Given the description of an element on the screen output the (x, y) to click on. 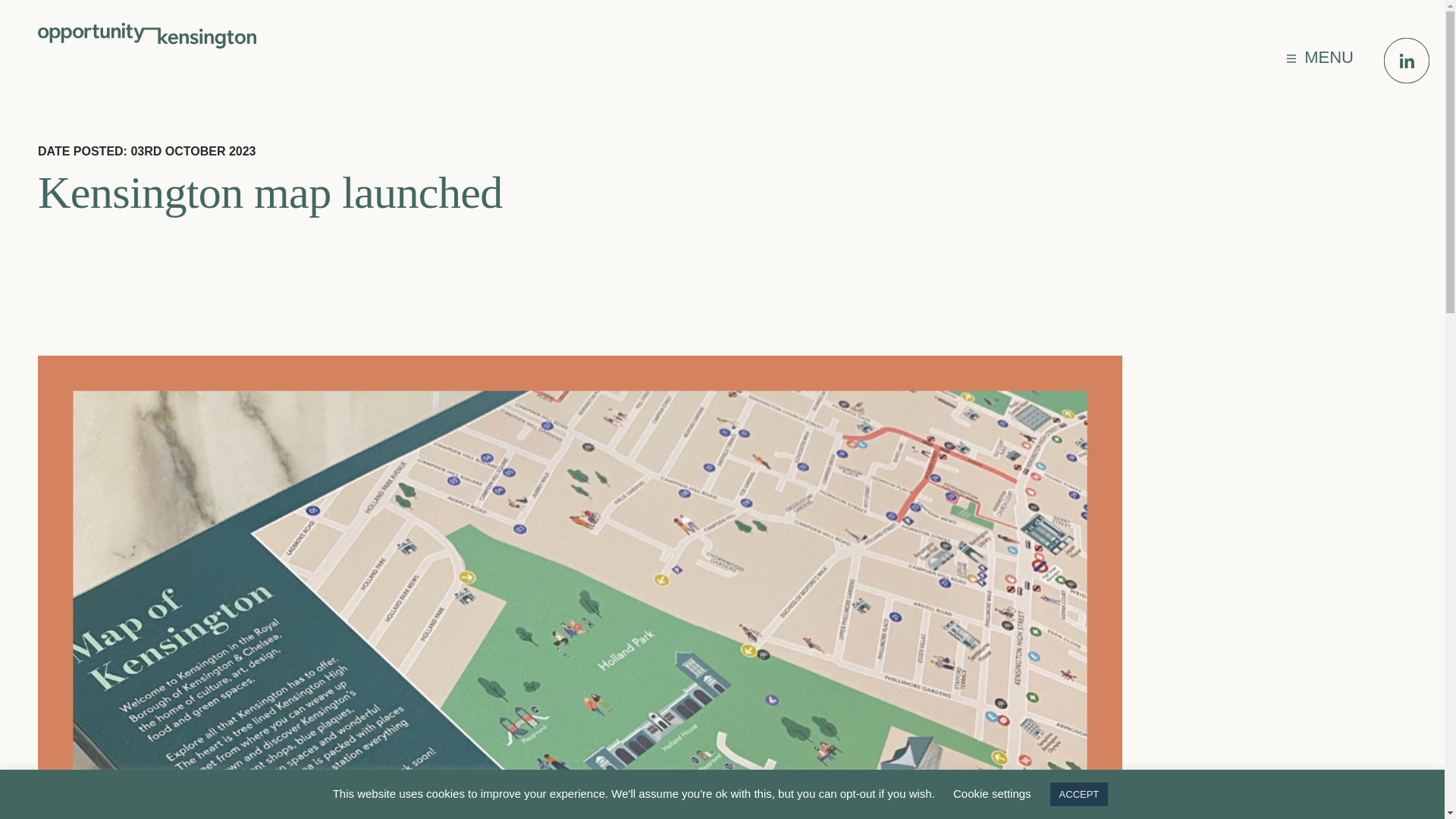
Cookie settings (991, 793)
ACCEPT (1078, 793)
